Given the description of an element on the screen output the (x, y) to click on. 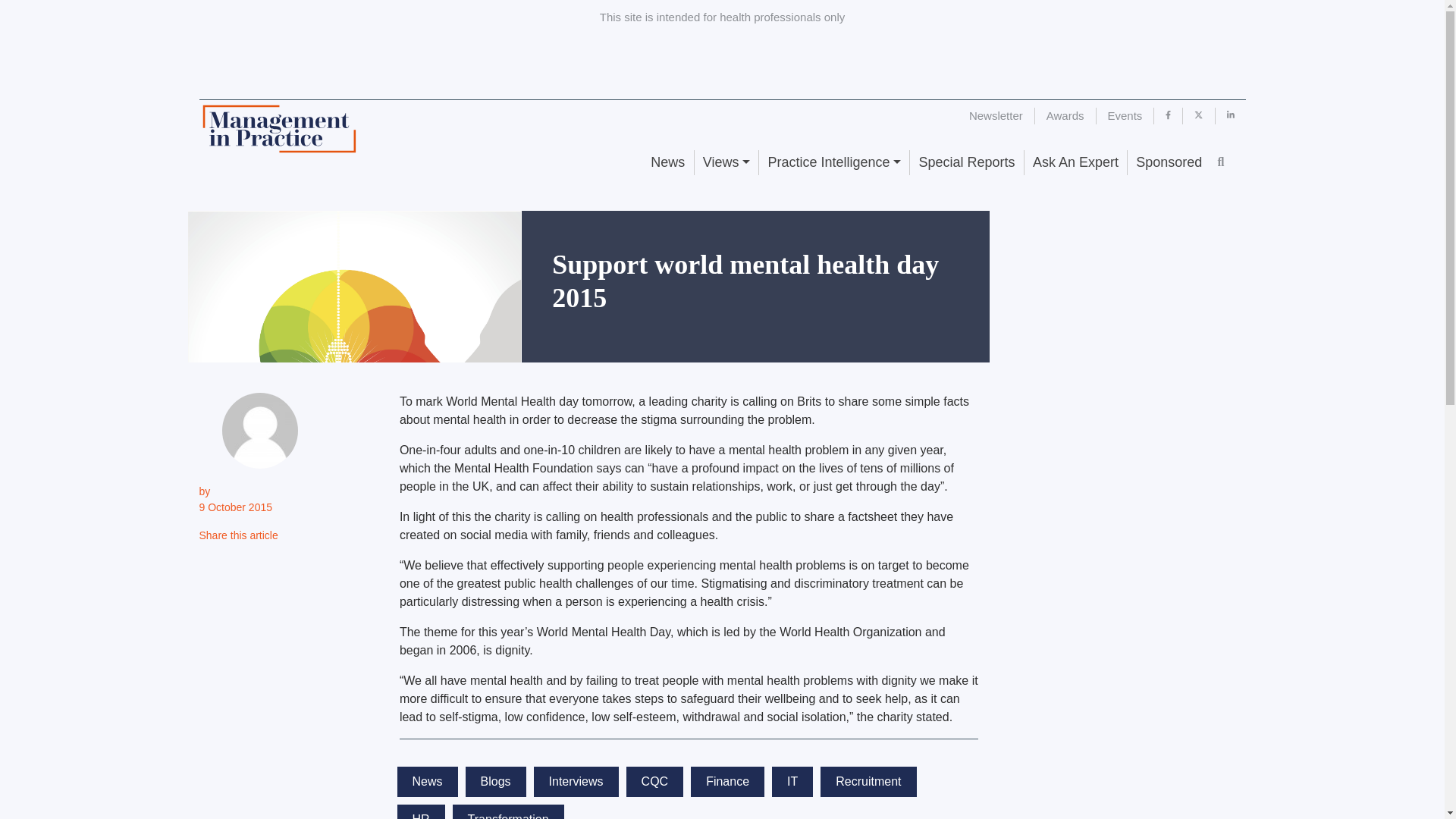
Sponsored (1167, 162)
Views (726, 162)
Events (1125, 115)
News (667, 162)
Practice Intelligence (833, 162)
Special Reports (966, 162)
Awards (1065, 115)
Newsletter (996, 115)
Ask An Expert (1075, 162)
